Given the description of an element on the screen output the (x, y) to click on. 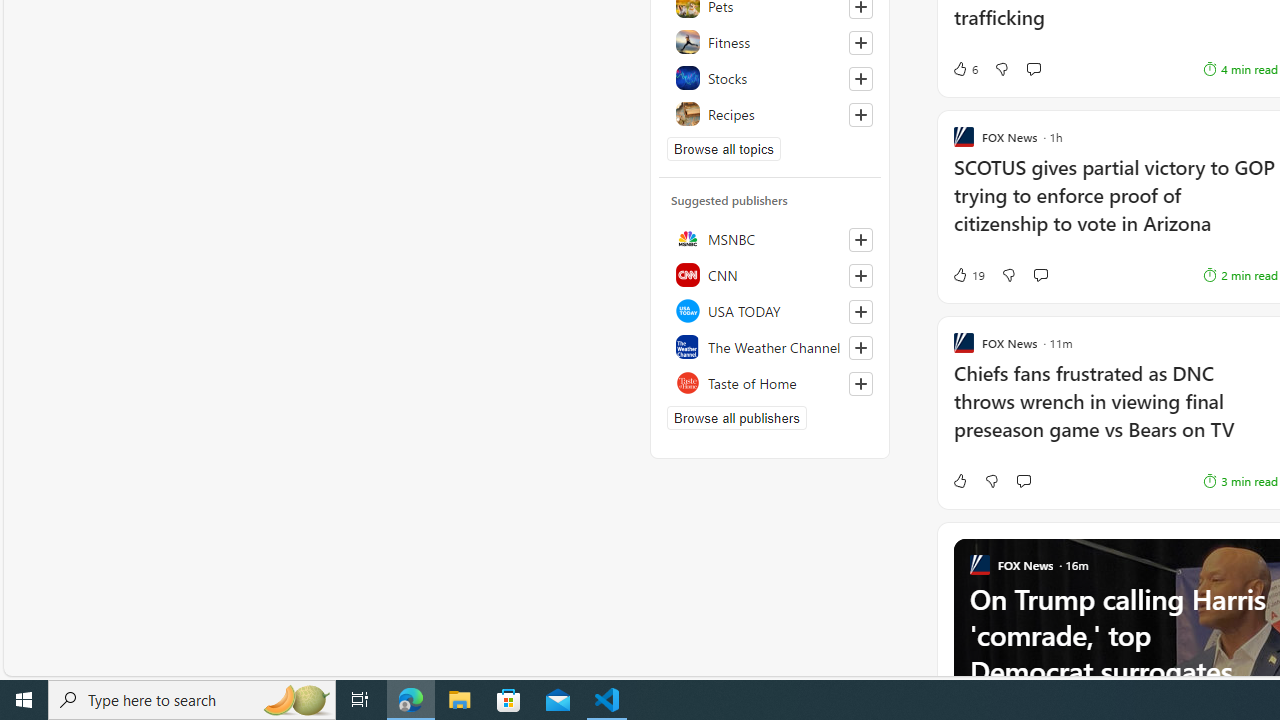
Browse all topics (724, 148)
19 Like (775, 274)
USA TODAY (770, 310)
The Weather Channel (770, 346)
Taste of Home (770, 382)
Follow this source (860, 384)
CNN (770, 274)
